Given the description of an element on the screen output the (x, y) to click on. 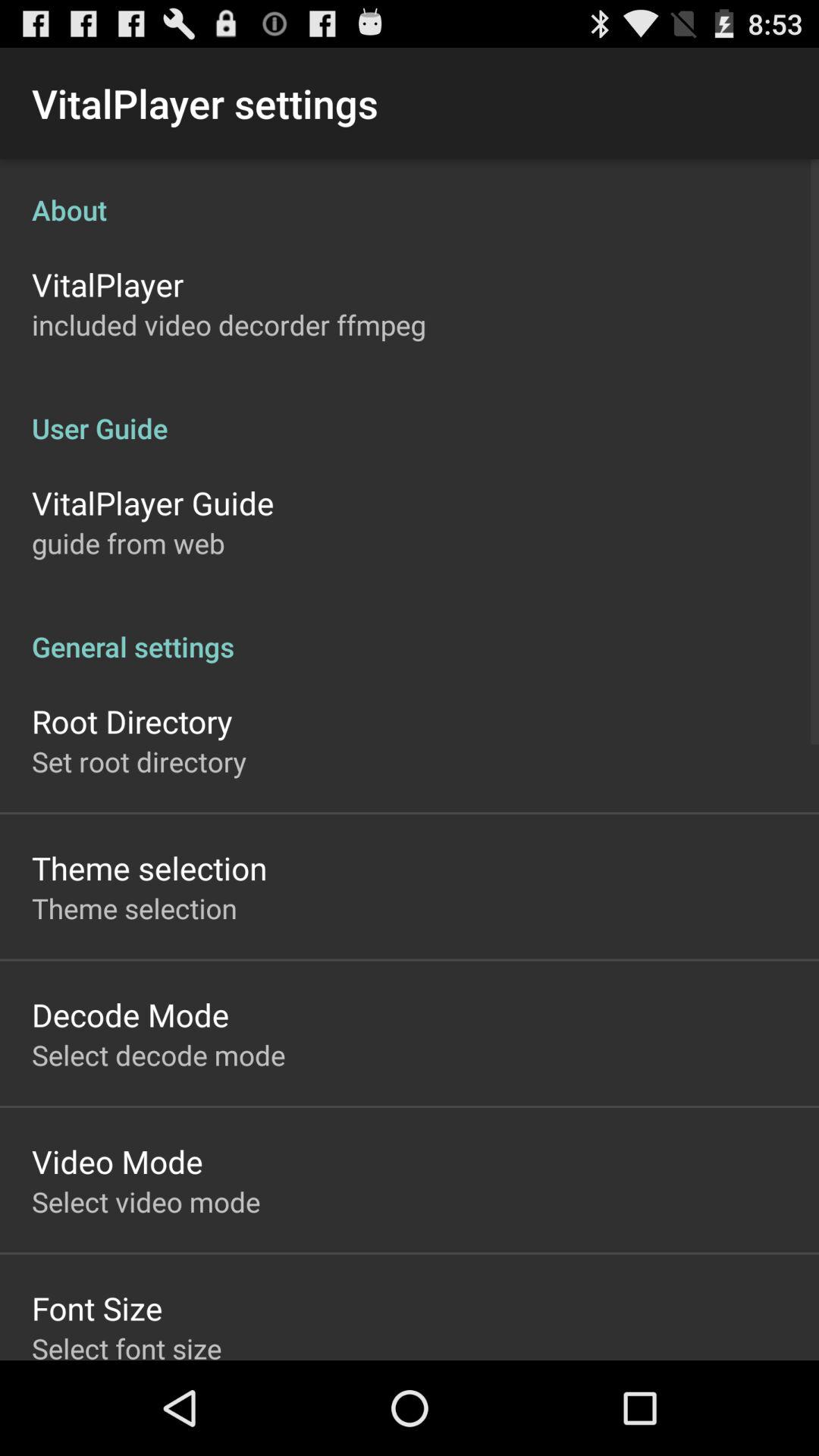
tap the item above vitalplayer guide app (409, 412)
